Given the description of an element on the screen output the (x, y) to click on. 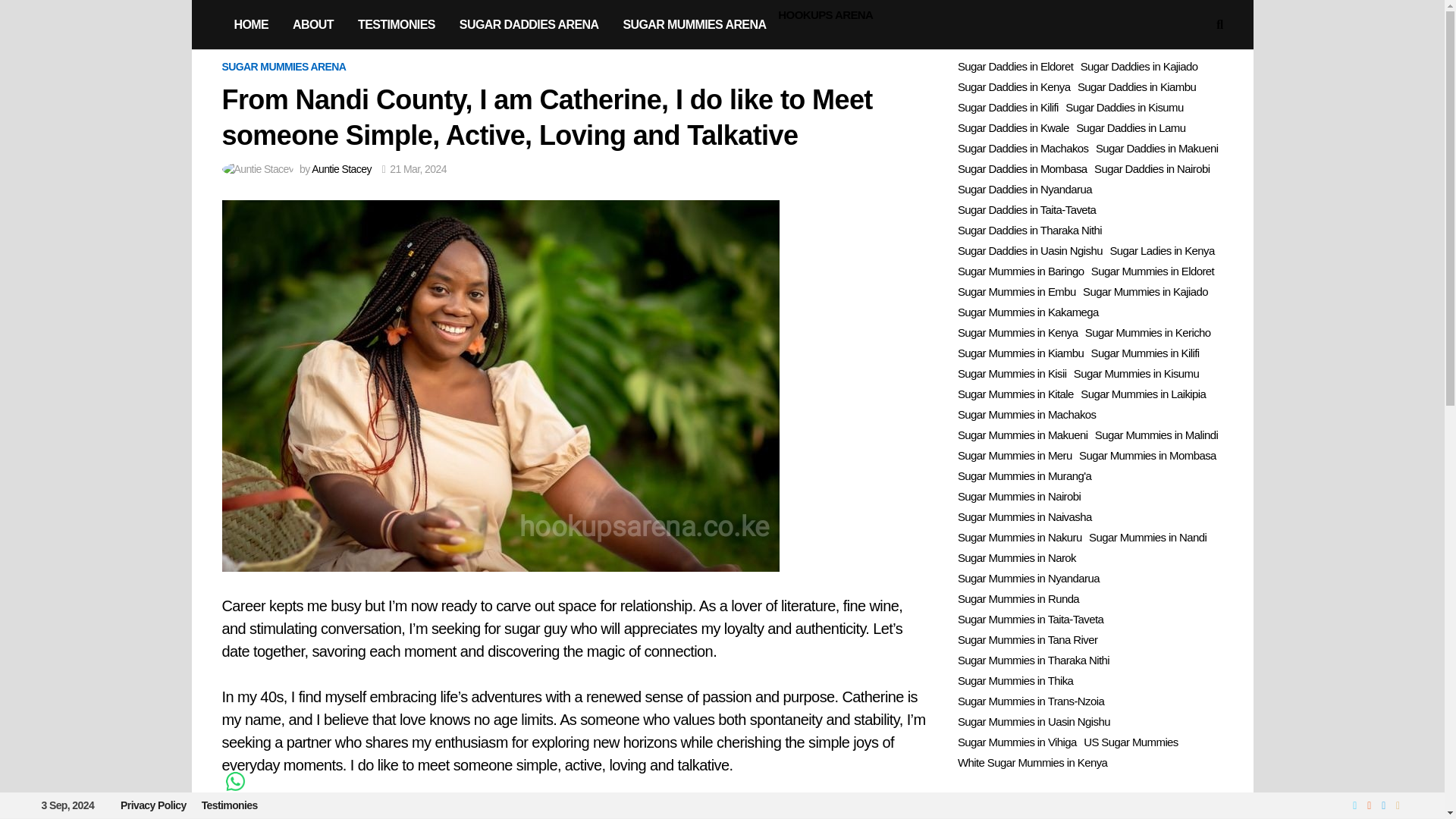
HOOKUPS ARENA (824, 15)
Sugar Daddies in Eldoret (1015, 67)
Privacy Policy (153, 805)
Auntie Stacey (341, 168)
ABOUT (313, 24)
Testimonies (228, 805)
Sugar Daddies in Kilifi (1008, 108)
TESTIMONIES (396, 24)
Sugar Daddies in Kajiado (1139, 67)
SUGAR MUMMIES ARENA (283, 66)
